Given the description of an element on the screen output the (x, y) to click on. 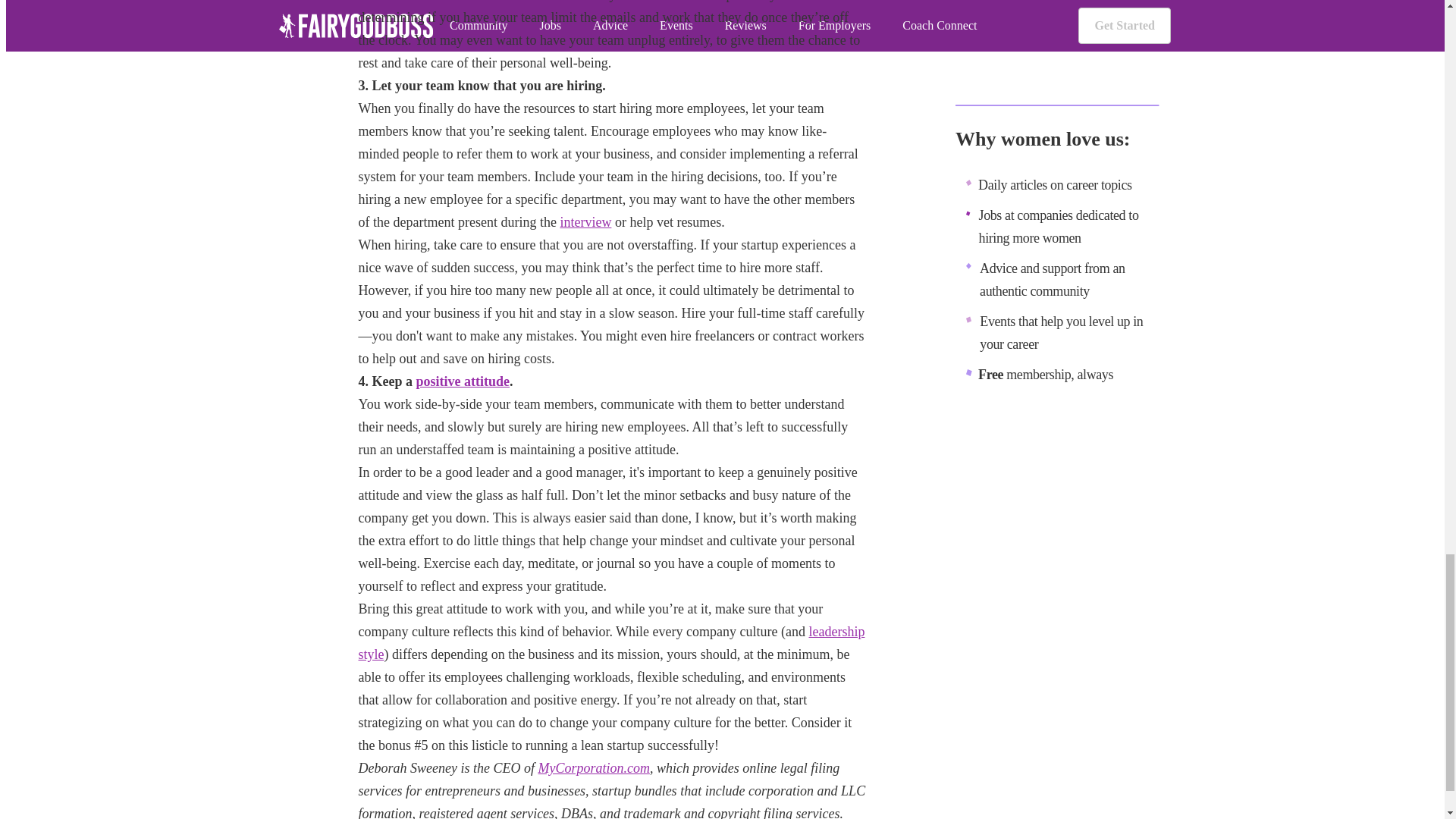
leadership style (611, 642)
MyCorporation.com (593, 767)
interview (585, 222)
positive attitude (461, 381)
